Given the description of an element on the screen output the (x, y) to click on. 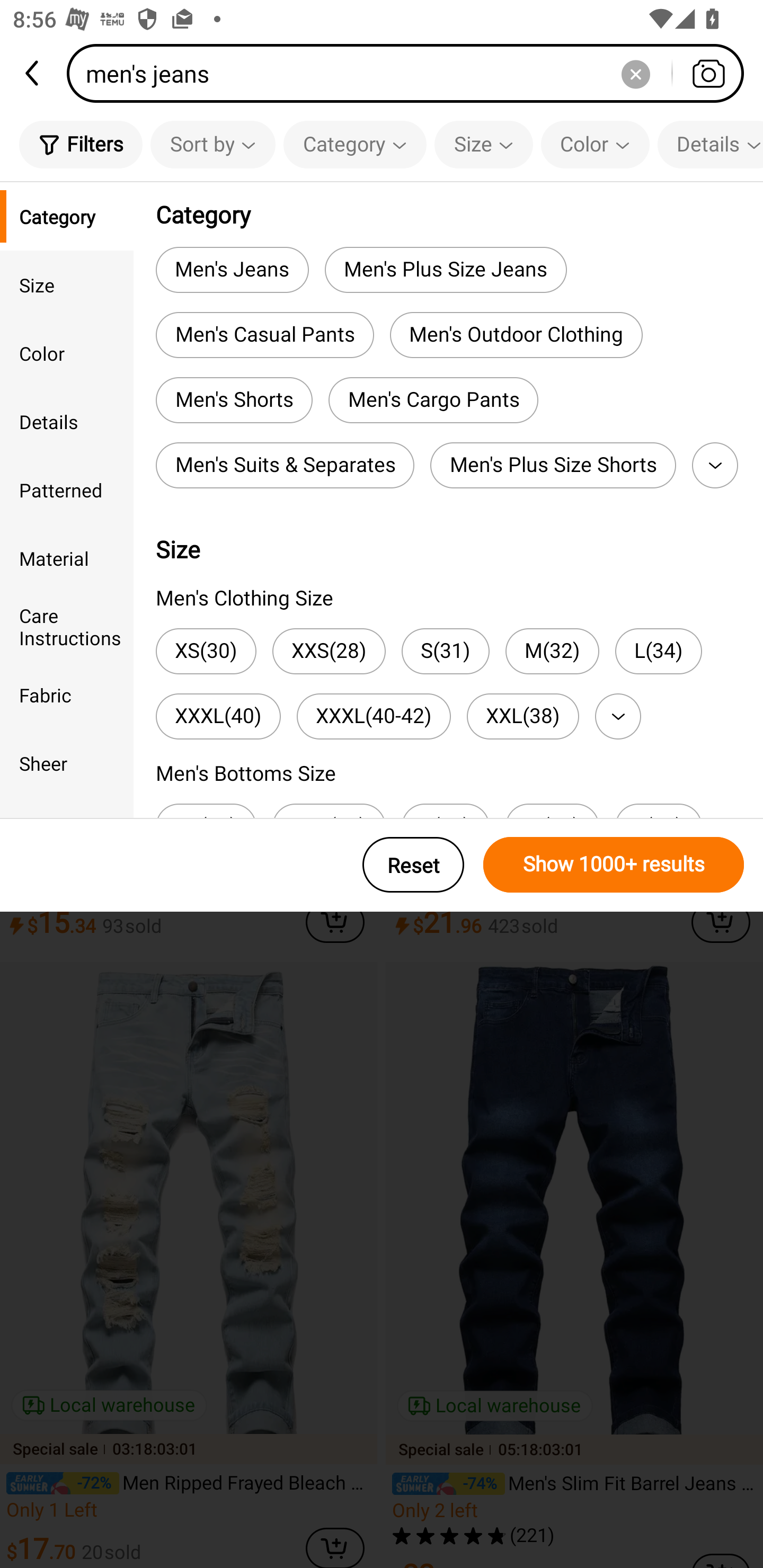
back (33, 72)
men's jeans (411, 73)
Delete search history (635, 73)
Search by photo (708, 73)
Filters (80, 143)
Sort by (212, 143)
Category (354, 143)
Size (483, 143)
Color (594, 143)
Details (710, 143)
Category (66, 215)
Men's Plus Size Jeans (445, 269)
Size (66, 284)
Men's Casual Pants (264, 334)
Men's Outdoor Clothing (515, 334)
Color (66, 352)
Men's Shorts (233, 400)
Men's Cargo Pants (433, 400)
Details (66, 421)
Men's Suits & Separates (284, 464)
Men's Plus Size Shorts (553, 464)
More (714, 464)
Patterned (66, 489)
Material (66, 557)
Care Instructions (66, 626)
XS(30) (205, 651)
XXS(28) (329, 651)
S(31) (445, 651)
M(32) (551, 651)
L(34) (657, 651)
Fabric (66, 694)
XXXL(40) (217, 716)
XXXL(40-42) (373, 716)
XXL(38) (522, 716)
More (617, 716)
Sheer (66, 762)
Reset (412, 864)
Show 1000+ results (612, 864)
